Given the description of an element on the screen output the (x, y) to click on. 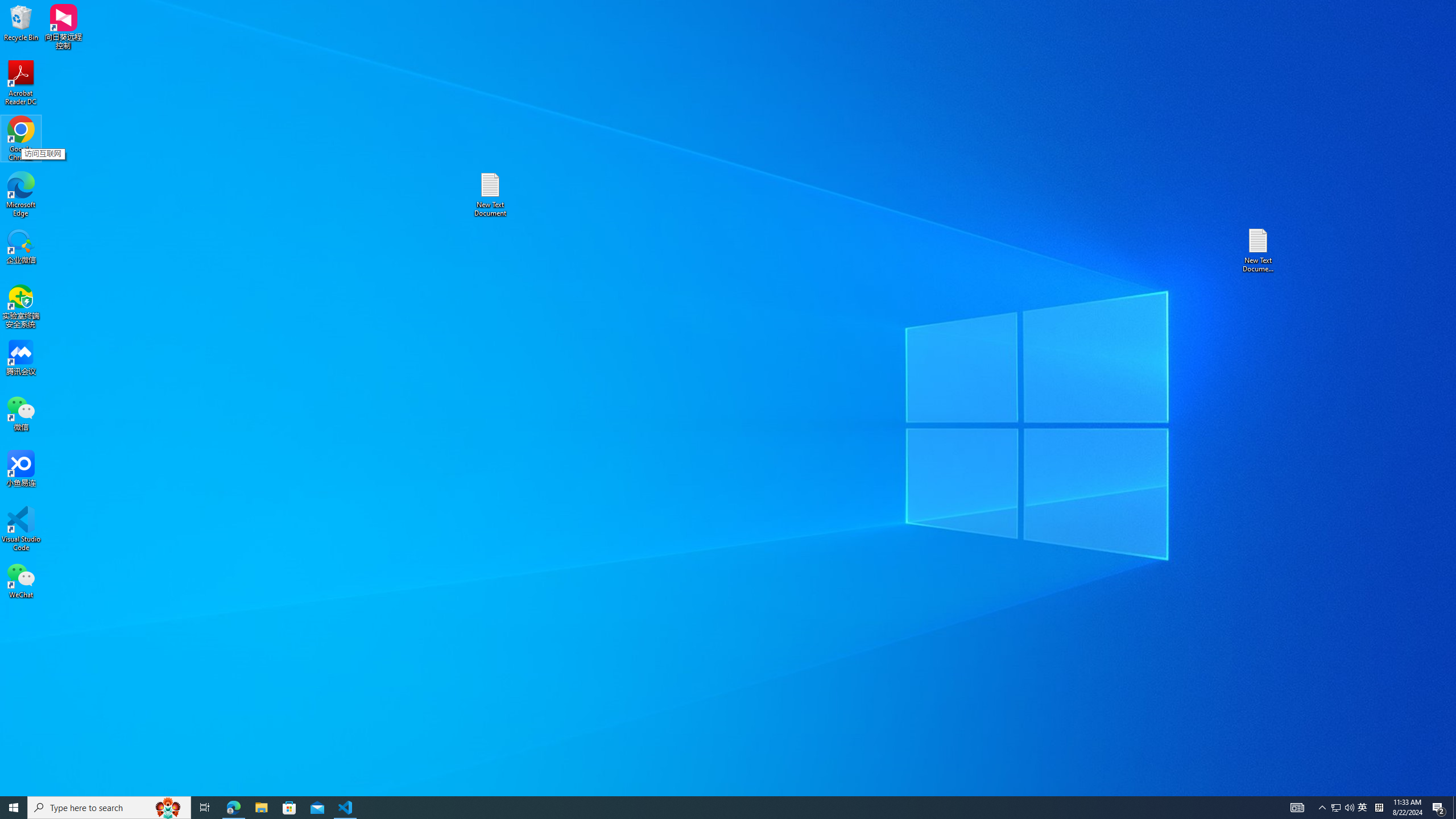
New Text Document (489, 194)
Microsoft Edge (1362, 807)
New Text Document (2) (21, 194)
Running applications (1258, 250)
WeChat (707, 807)
